Given the description of an element on the screen output the (x, y) to click on. 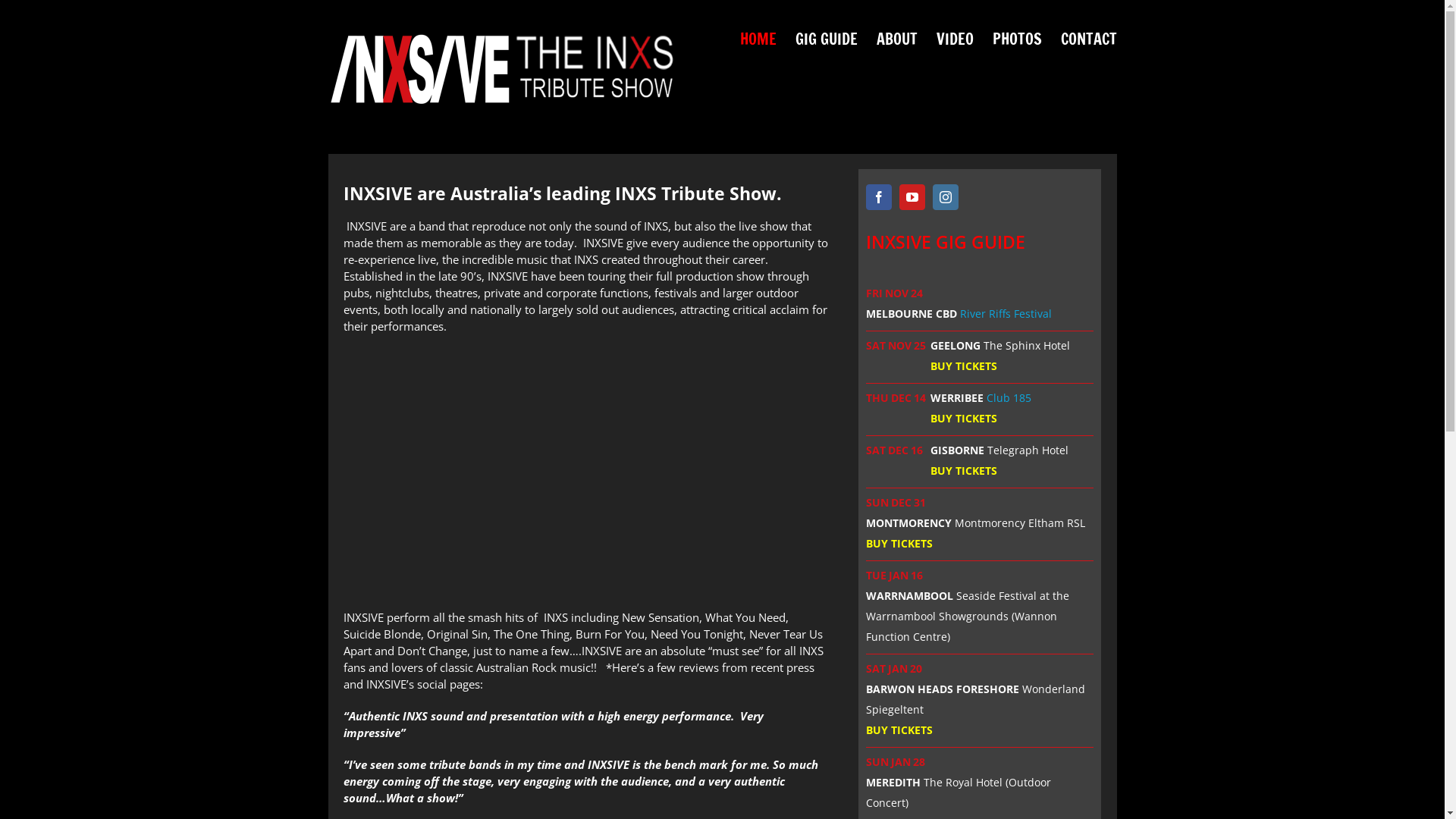
PHOTOS Element type: text (1016, 39)
The Sphinx Hotel Element type: text (1026, 345)
CONTACT Element type: text (1088, 39)
BUY TICKETS Element type: text (963, 365)
VIDEO Element type: text (953, 39)
HOME Element type: text (758, 39)
BUY TICKETS Element type: text (899, 543)
Wonderland Spiegeltent Element type: text (975, 698)
BUY TICKETS Element type: text (899, 729)
Telegraph Hotel Element type: text (1027, 449)
BUY TICKETS Element type: text (963, 470)
ABOUT Element type: text (896, 39)
Montmorency Eltham RSL Element type: text (1019, 522)
BUY TICKETS Element type: text (963, 417)
GIG GUIDE Element type: text (825, 39)
The Royal Hotel (Outdoor Concert) Element type: text (958, 792)
